Given the description of an element on the screen output the (x, y) to click on. 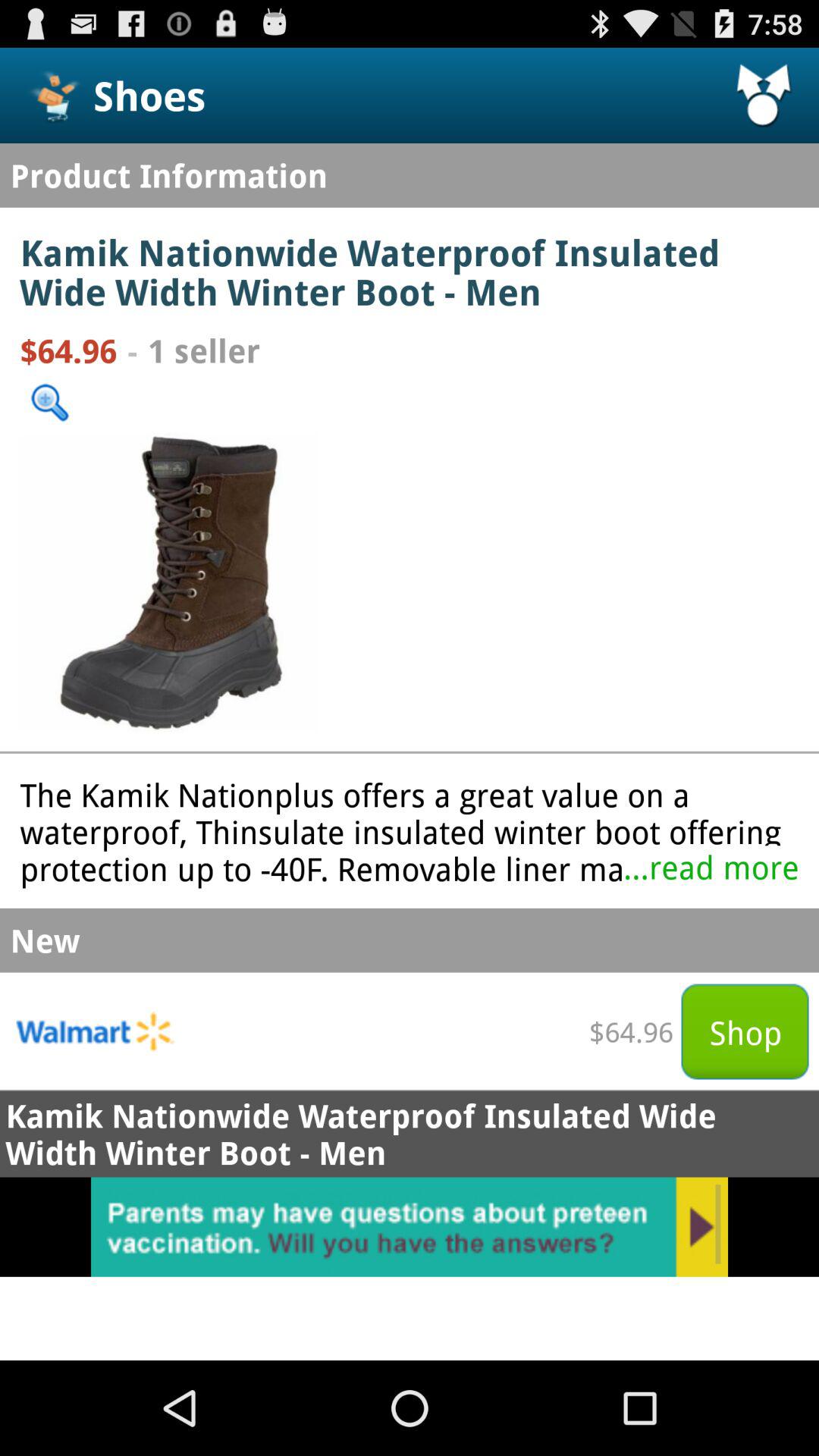
go to search (49, 402)
